Given the description of an element on the screen output the (x, y) to click on. 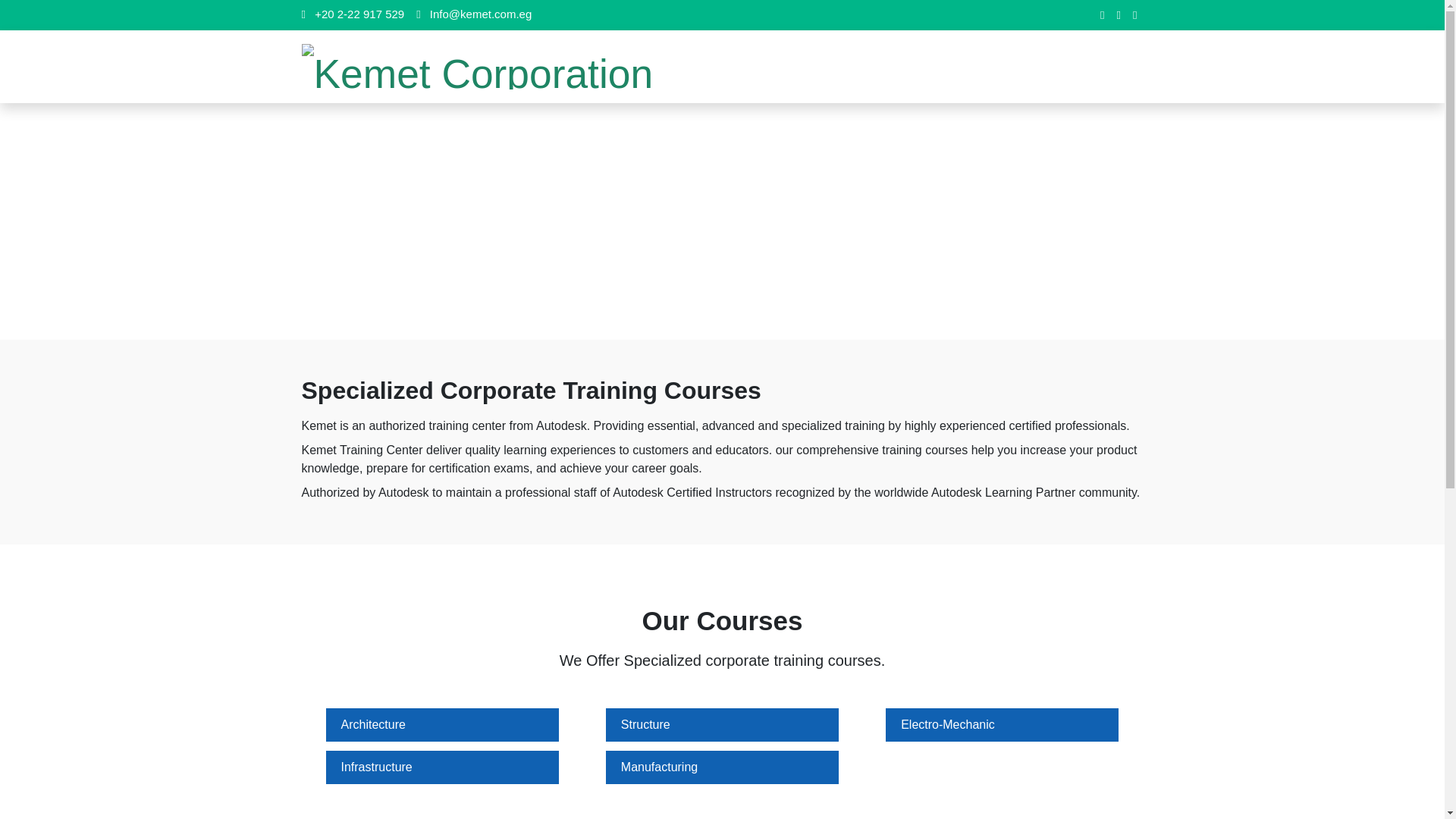
Kemet Corporation (477, 66)
Home (695, 220)
Architecture (373, 724)
